Given the description of an element on the screen output the (x, y) to click on. 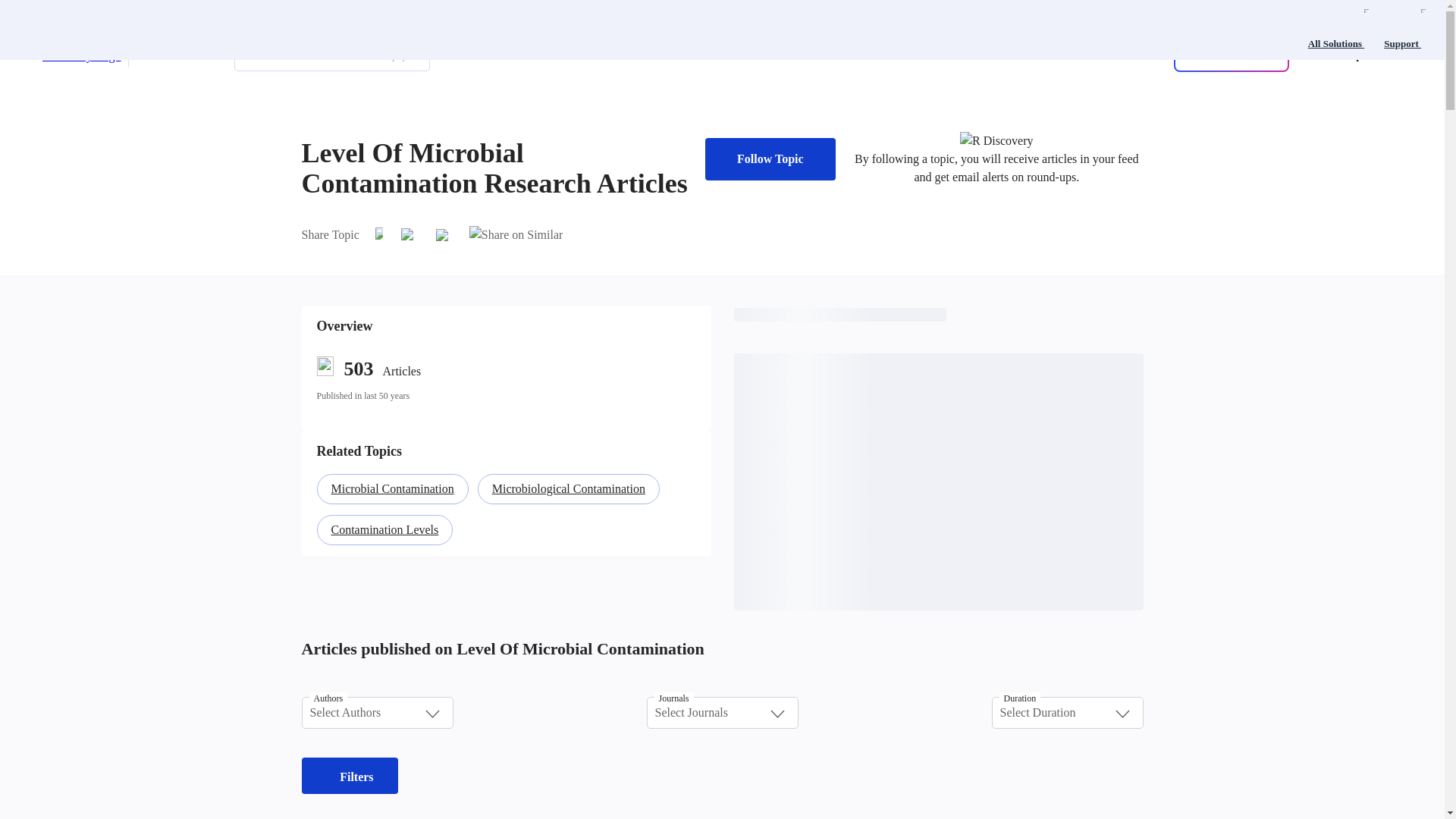
All Solutions (1337, 29)
Microbiological Contamination (568, 488)
Support (1404, 29)
Filters (349, 775)
Microbial Contamination (391, 488)
Contamination Levels (384, 529)
Follow Topic (769, 159)
